Given the description of an element on the screen output the (x, y) to click on. 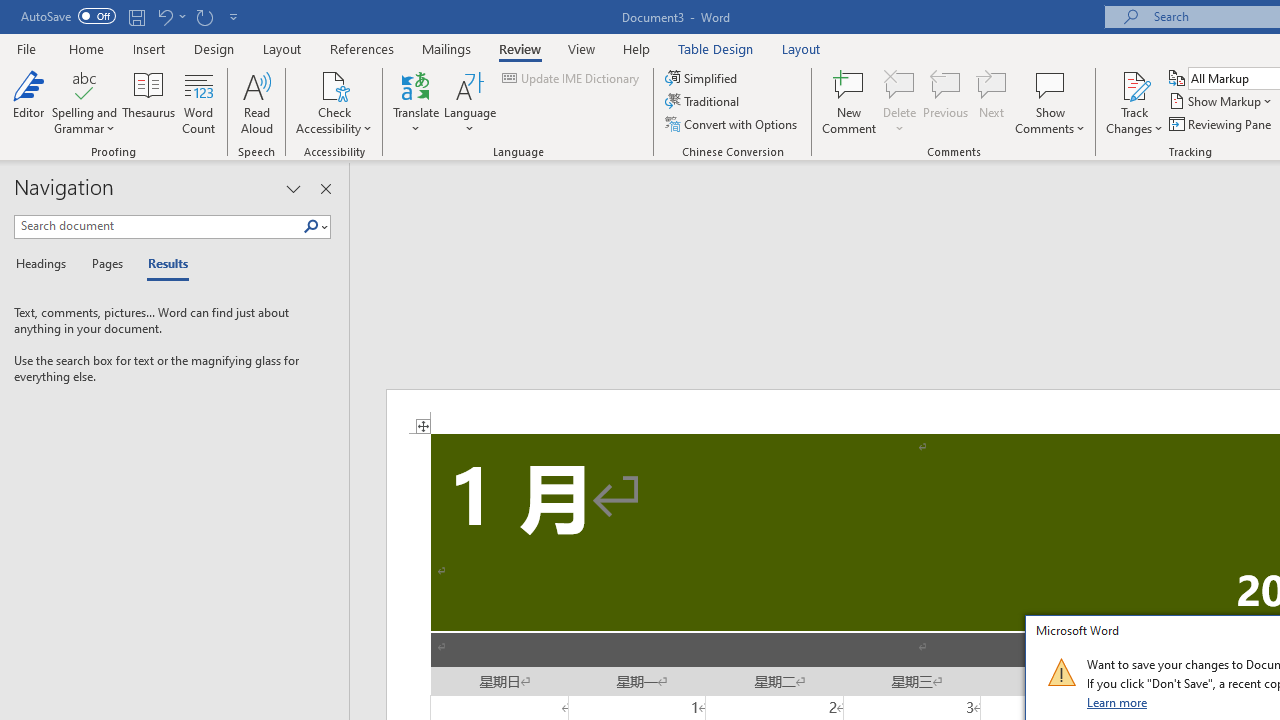
Spelling and Grammar (84, 102)
Delete (900, 84)
Word Count (198, 102)
Update IME Dictionary... (572, 78)
Thesaurus... (148, 102)
Read Aloud (256, 102)
